Given the description of an element on the screen output the (x, y) to click on. 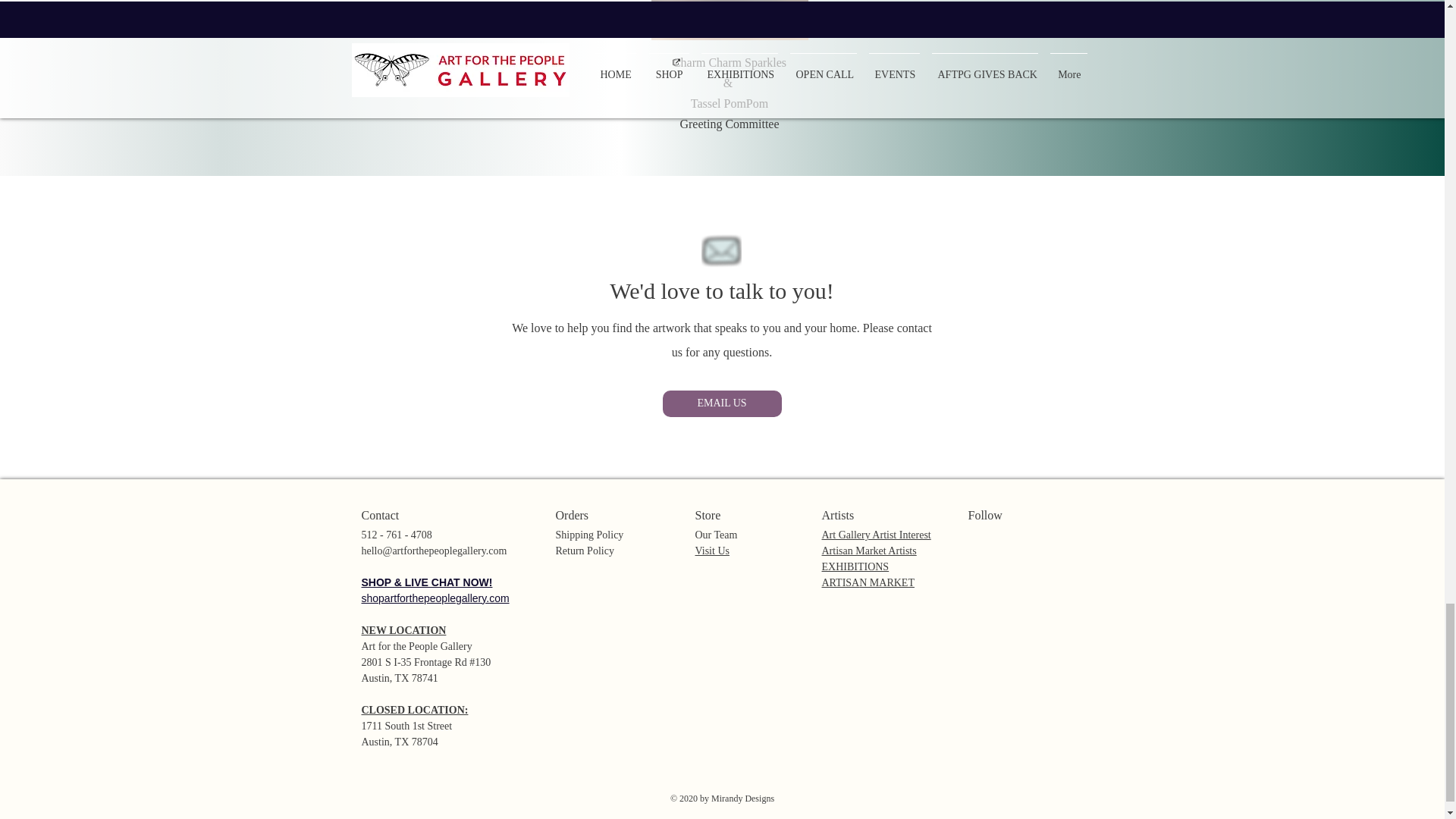
shopartforthepeoplegallery.com (434, 598)
Artisan Market Artists (869, 550)
Shipping Policy (588, 534)
EXHIBITIONS (855, 566)
Art Gallery Artist Interest (876, 534)
Return Policy (583, 550)
ARTISAN MARKET (868, 582)
Our Team (715, 534)
EMAIL US (721, 403)
Visit Us (711, 550)
